Given the description of an element on the screen output the (x, y) to click on. 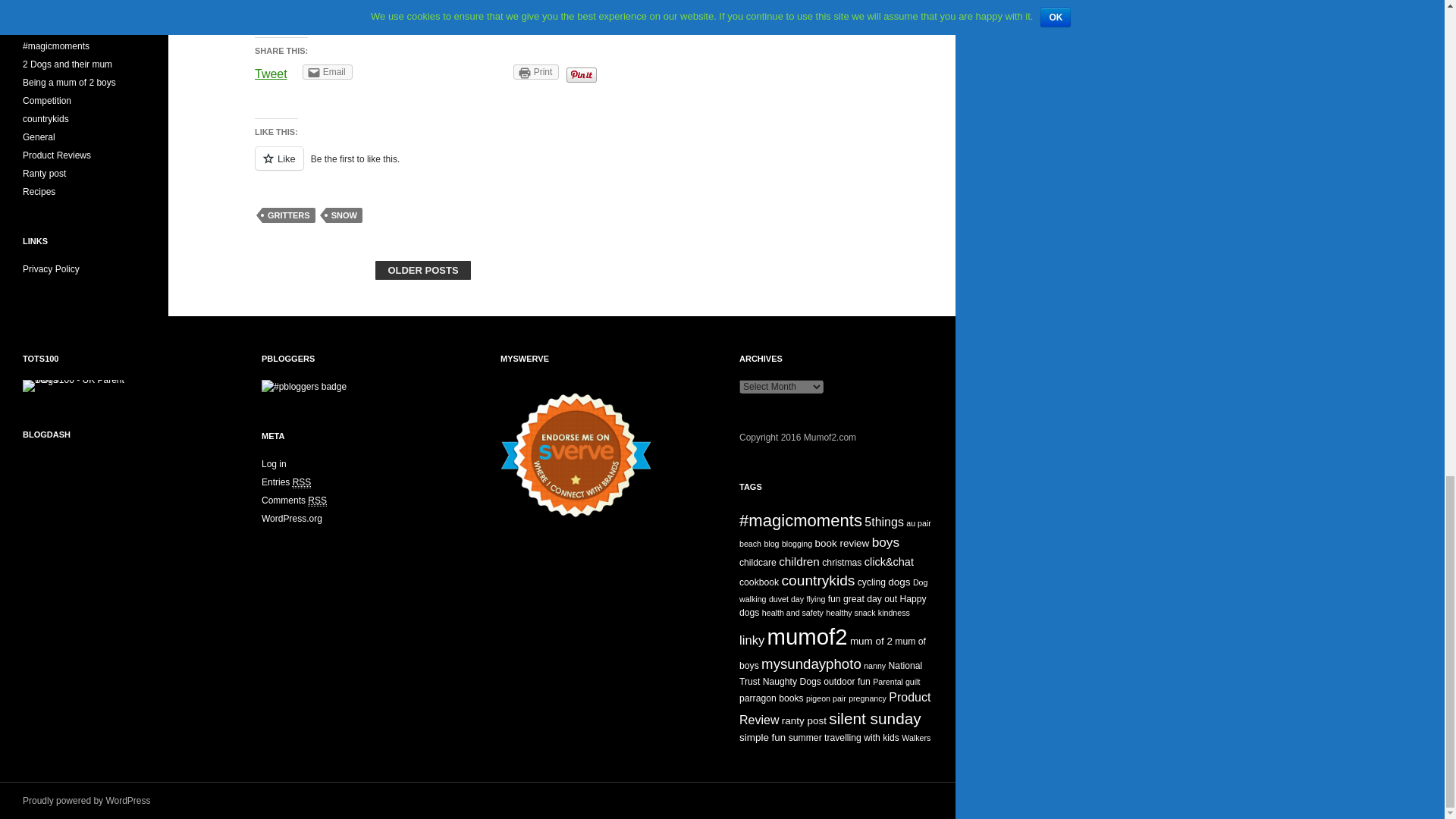
Share on Tumblr (481, 71)
Product Reviews (56, 154)
TOTS 100 - UK Parent Blogs (85, 385)
Tweet (270, 73)
Click to print (536, 71)
Click to email this to a friend (327, 71)
Email (327, 71)
Print (536, 71)
Share on Tumblr (481, 71)
